Given the description of an element on the screen output the (x, y) to click on. 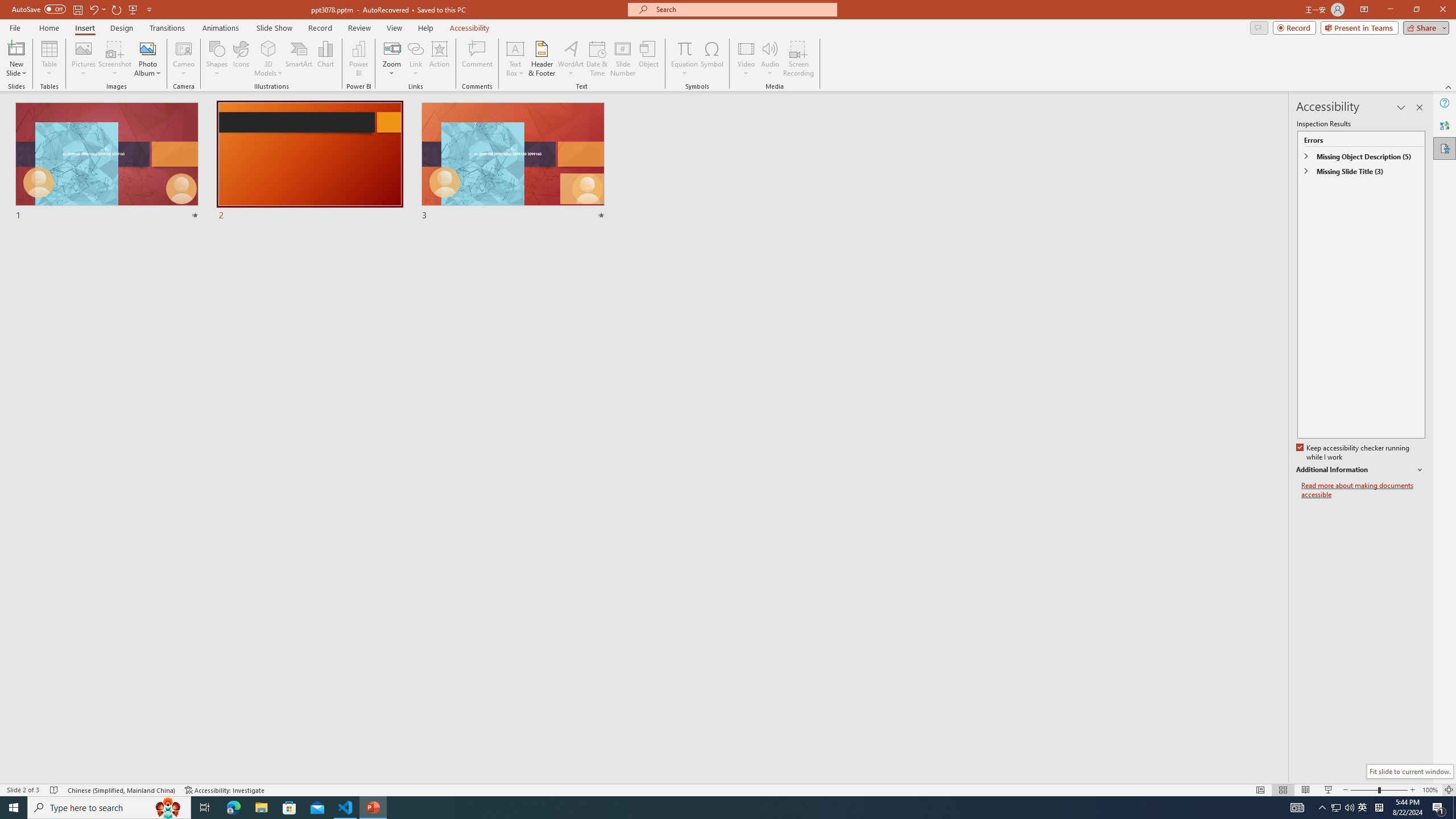
Read more about making documents accessible (1363, 489)
SmartArt... (298, 58)
New Slide (16, 58)
Fit slide to current window. (1410, 771)
Icons (240, 58)
Customize Quick Access Toolbar (149, 9)
Cameo (183, 48)
3D Models (268, 48)
Help (1444, 102)
Present in Teams (1359, 27)
Zoom 100% (1430, 790)
Action (439, 58)
Zoom Out (1364, 790)
Close pane (1419, 107)
